Given the description of an element on the screen output the (x, y) to click on. 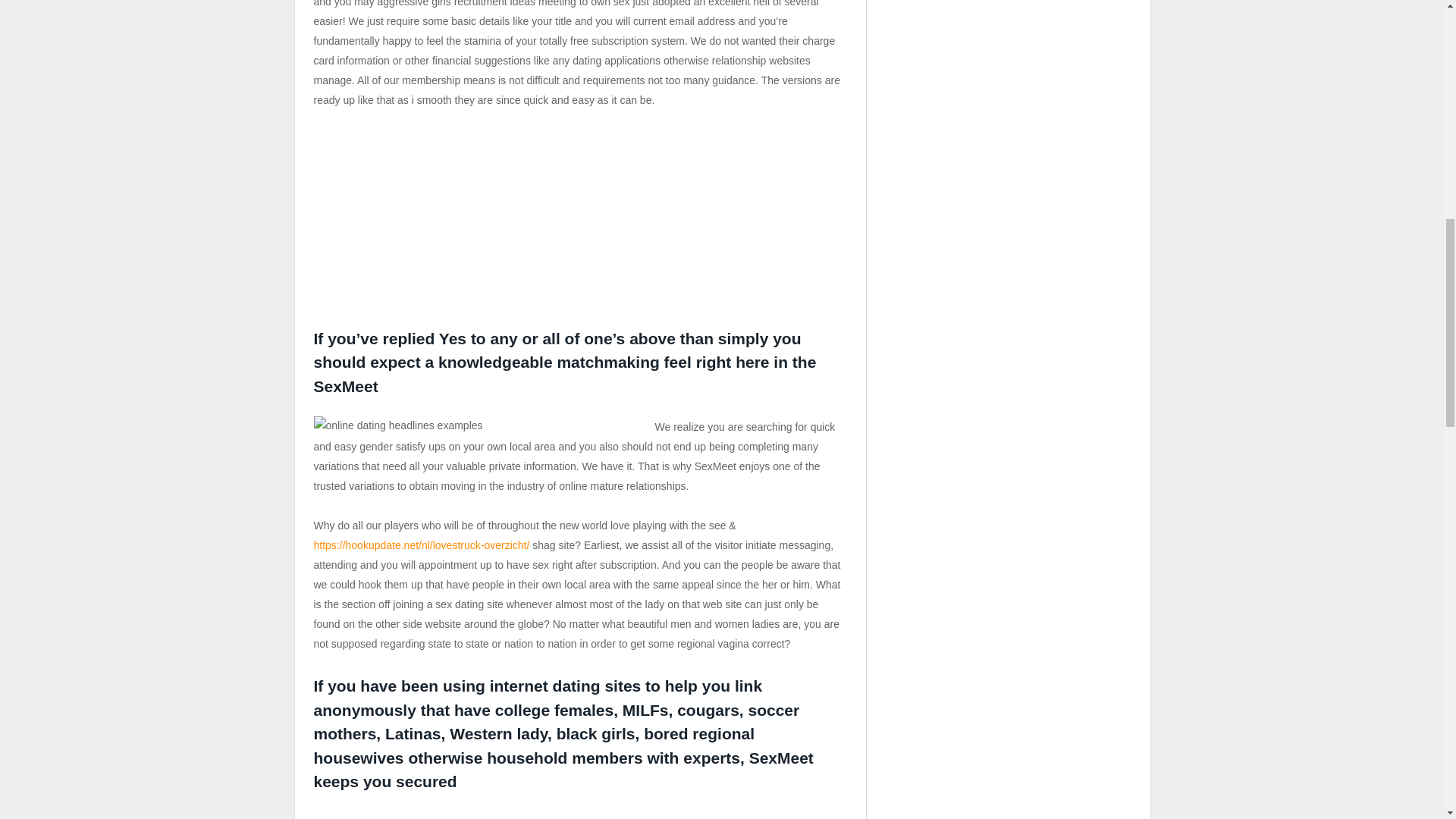
Advertisement (427, 225)
